Given the description of an element on the screen output the (x, y) to click on. 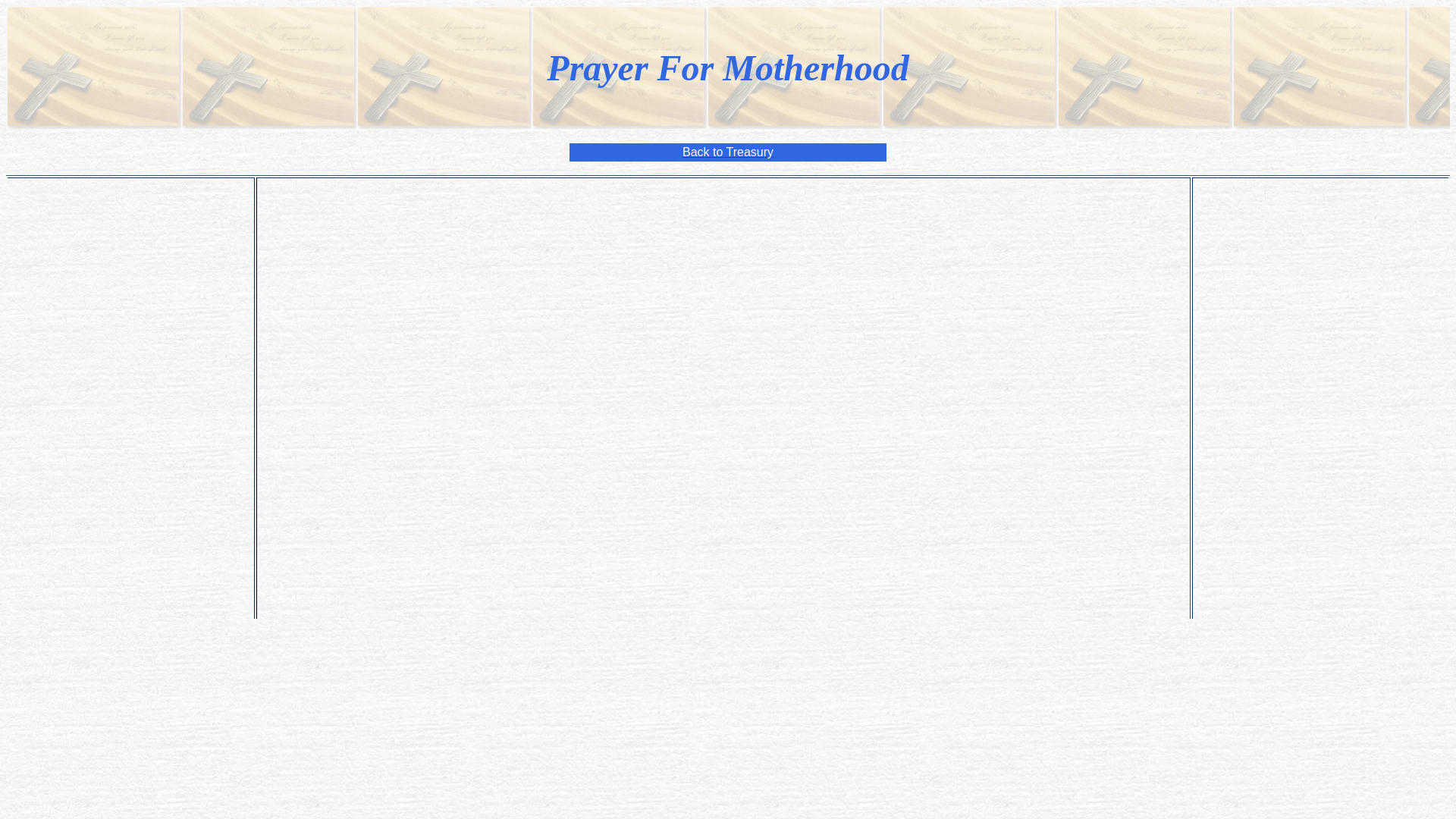
Back to Treasury (727, 151)
